Given the description of an element on the screen output the (x, y) to click on. 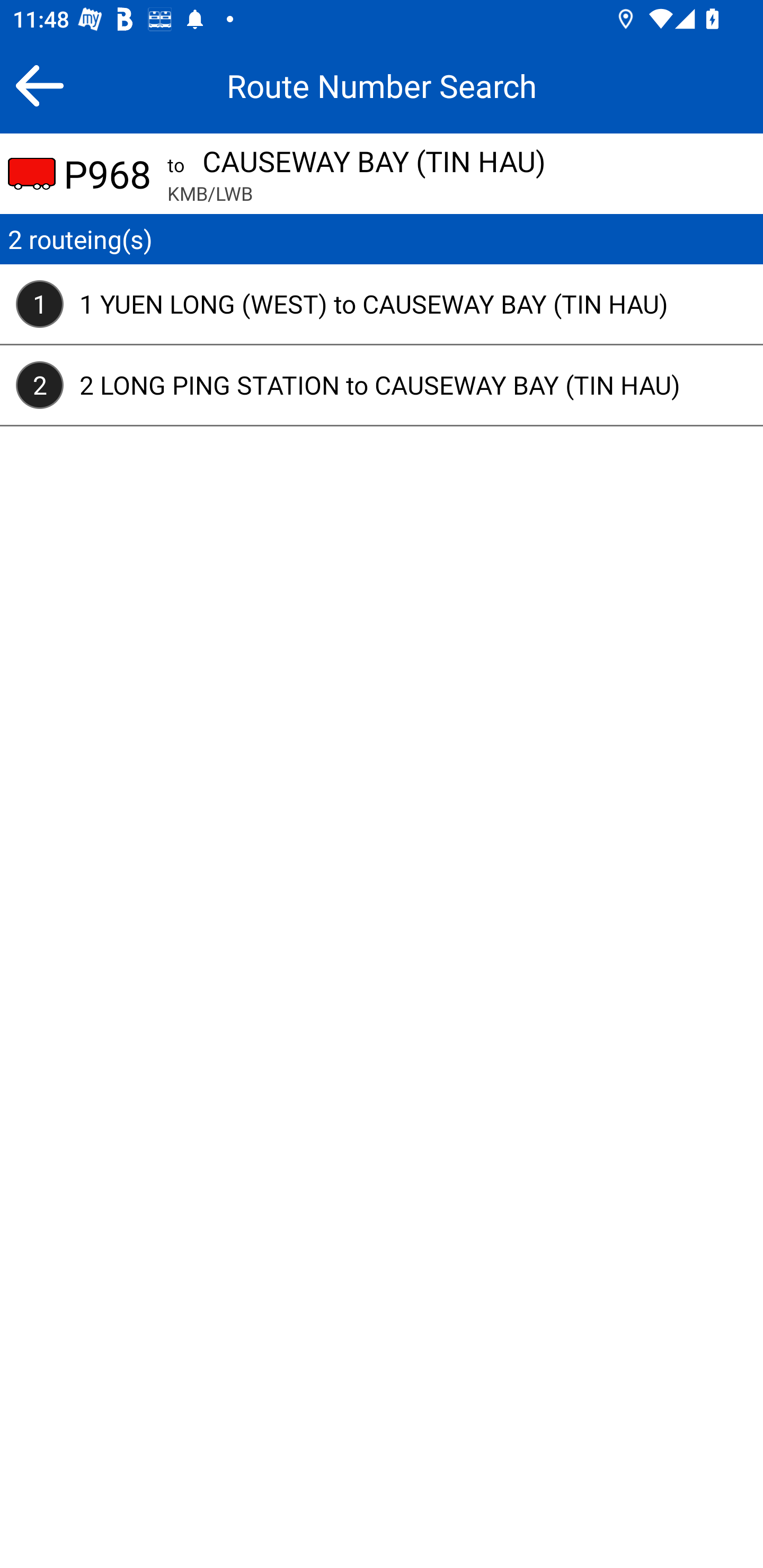
Back (39, 85)
1 1 YUEN LONG (WEST) to CAUSEWAY BAY (TIN HAU) (381, 303)
2 2 LONG PING STATION to CAUSEWAY BAY (TIN HAU) (381, 384)
